Given the description of an element on the screen output the (x, y) to click on. 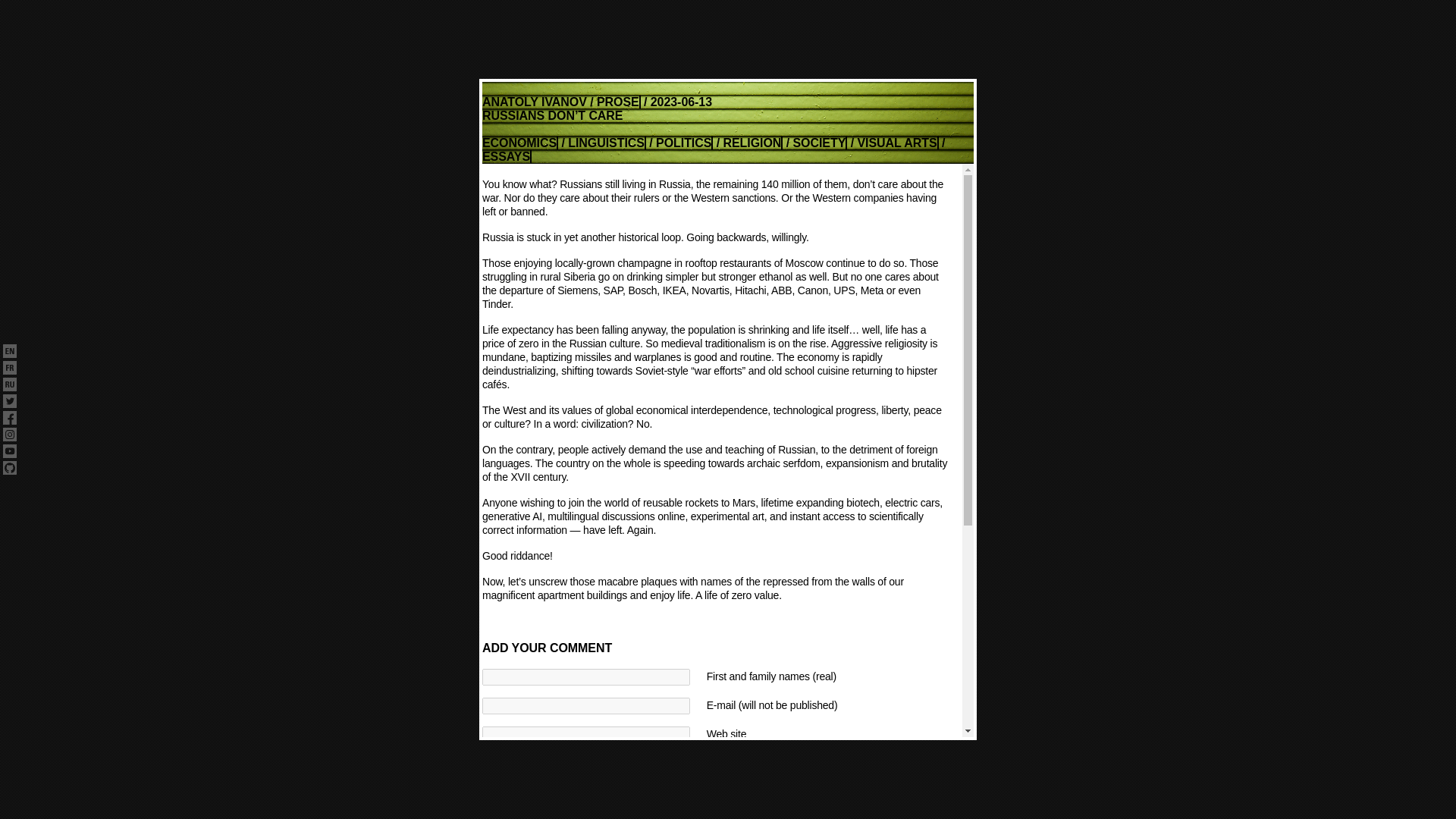
LINGUISTICS (606, 199)
POLITICS (684, 192)
RELIGION (753, 187)
MY TWITTER (9, 402)
MY ESSAYS, REVIEWS, NEWS AND INTERVIEWS (560, 101)
MY INSTAGRAM (9, 435)
MY YOUTUBE CHANNEL (9, 452)
MY GITHUB (9, 469)
MY FACEBOOK PAGE (9, 419)
VISUAL ARTS (897, 177)
SOCIETY (819, 184)
ECONOMICS (519, 203)
ESSAYS (506, 187)
SWITCH TO ENGLISH (9, 352)
